Given the description of an element on the screen output the (x, y) to click on. 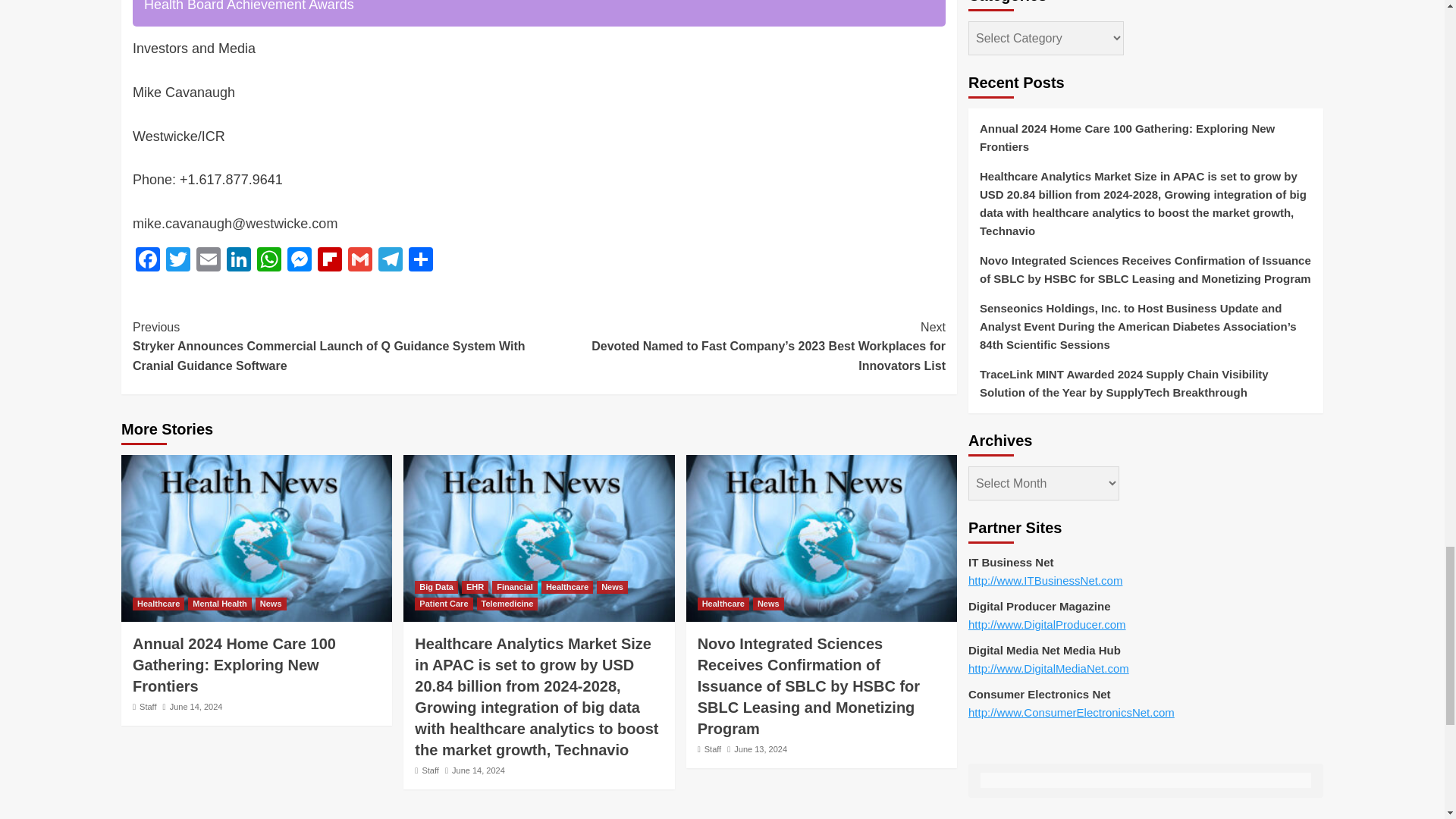
Facebook (147, 261)
Flipboard (329, 261)
Gmail (360, 261)
Twitter (178, 261)
Telegram (390, 261)
Flipboard (329, 261)
Messenger (298, 261)
WhatsApp (268, 261)
